Given the description of an element on the screen output the (x, y) to click on. 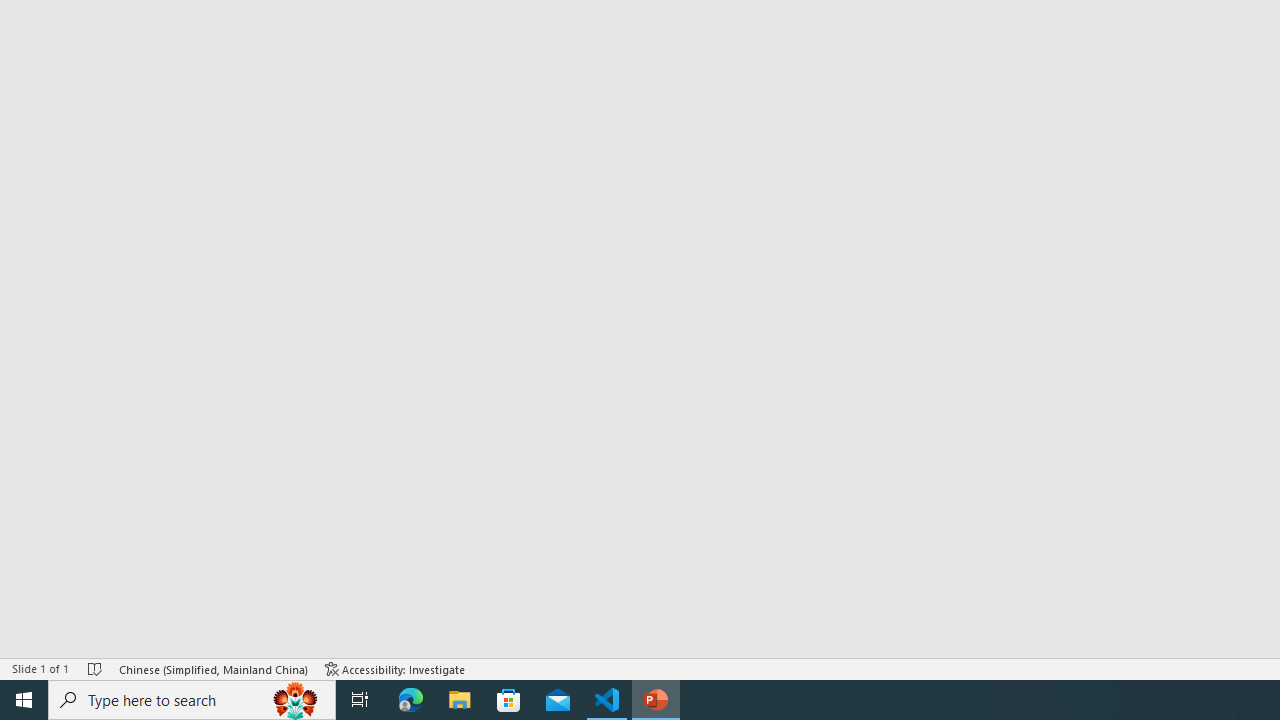
Spell Check No Errors (95, 668)
Accessibility Checker Accessibility: Investigate (395, 668)
